Given the description of an element on the screen output the (x, y) to click on. 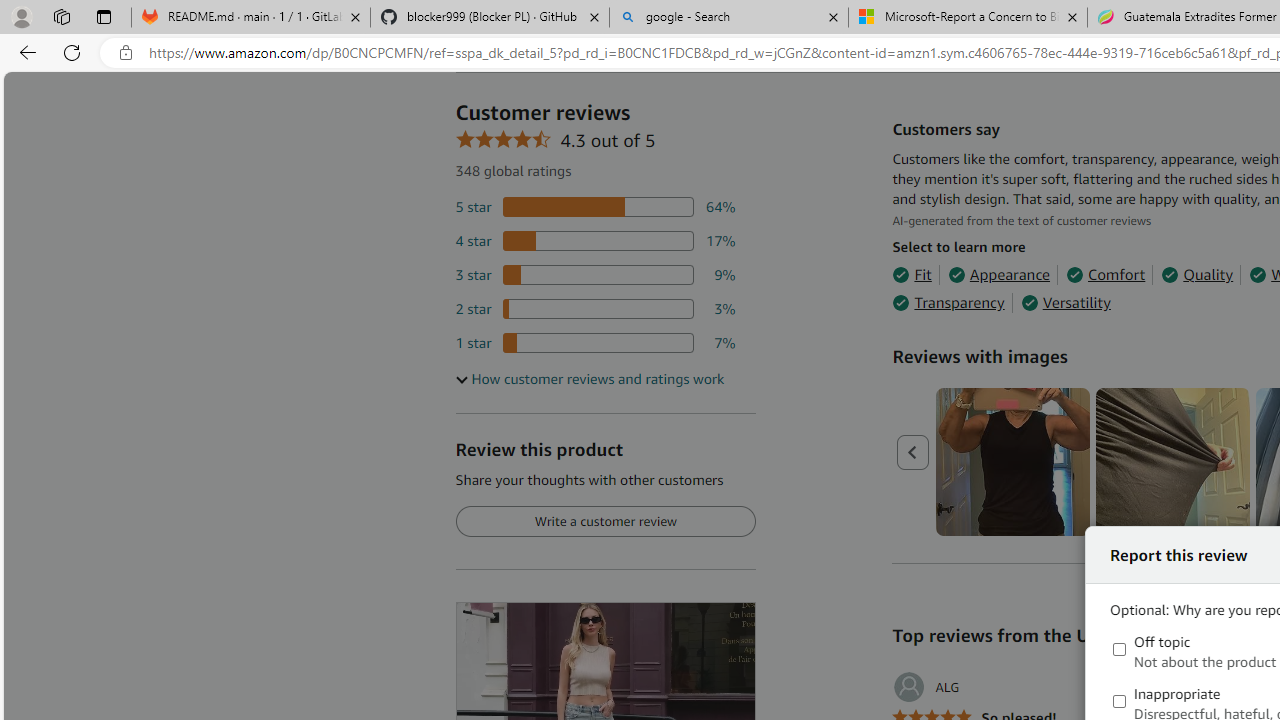
Comfort (1105, 274)
7 percent of reviews have 1 stars (595, 343)
How customer reviews and ratings work (589, 379)
64 percent of reviews have 5 stars (595, 207)
Write a customer review (605, 521)
Versatility (1065, 303)
Fit (911, 274)
Customer Image (1172, 462)
Quality (1196, 274)
Transparency (948, 303)
9 percent of reviews have 3 stars (595, 274)
